Given the description of an element on the screen output the (x, y) to click on. 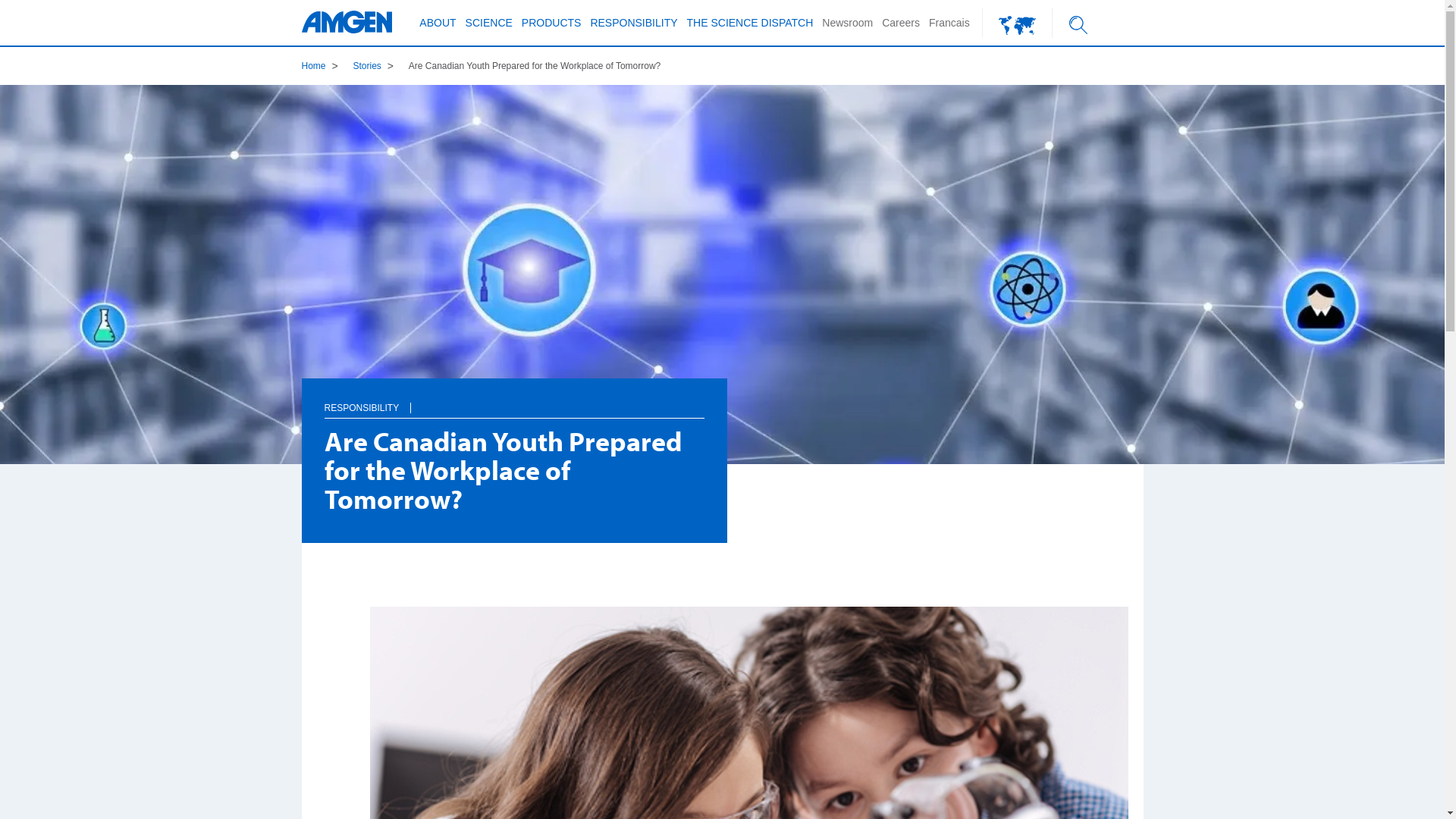
Are Canadian Youth Prepared for the Workplace of Tomorrow? Element type: text (534, 65)
FLItem-3-SLItem-16 Element type: text (437, 77)
FLItem-2 Element type: text (1017, 22)
RESPONSIBILITY Element type: text (361, 407)
FLItem-4-SLItem-24 Element type: text (449, 218)
FLItem-1-SLItem-5 Element type: text (437, 170)
FLItem-1-SLItem-3 Element type: text (437, 122)
FLItem-1-SLItem-8 Element type: text (686, 99)
FLItem-2-SLItem-9 Element type: text (449, 77)
FLItem-4-SLItem-28 Element type: text (469, 312)
FLItem-5-SLItem-34 Element type: text (437, 146)
FLItem-1-SLItem-4 Element type: text (437, 146)
FLItem-1-SLItem-7 Element type: text (686, 77)
RESPONSIBILITY Element type: text (633, 22)
FLItem-1-SLItem-2 Element type: text (437, 99)
SCIENCE Element type: text (489, 22)
FLItem-1-SLItem-1 Element type: text (437, 77)
FLItem-4-SLItem-27 Element type: text (469, 290)
FLItem-2-SLItem-10 Element type: text (449, 99)
FLItem-5-SLItem-36 Element type: text (437, 193)
Newsroom Element type: text (847, 22)
THE SCIENCE DISPATCH Element type: text (750, 22)
FLItem-3-SLItem-17 Element type: text (437, 99)
FLItem-2-SLItem-14 Element type: text (449, 193)
ABOUT Element type: text (437, 22)
FLItem-4-SLItem-21 Element type: text (469, 137)
FLItem-4-SLItem-25 Element type: text (469, 248)
FLItem-1-SLItem-6 Element type: text (437, 193)
PRODUCTS Element type: text (551, 22)
FLItem-2-SLItem-12 Element type: text (449, 146)
FLItem-4-SLItem-23 Element type: text (469, 187)
FLItem-2-SLItem-13 Element type: text (449, 170)
FLItem-3-SLItem-18 Element type: text (437, 122)
FLItem-4-SLItem-20 Element type: text (449, 107)
Stories Element type: text (366, 65)
FLItem-5-SLItem-35 Element type: text (437, 170)
Careers Element type: text (900, 22)
Francais Element type: text (949, 22)
FLItem-2-SLItem-11 Element type: text (449, 122)
Home Element type: text (313, 65)
FLItem-4-SLItem-22 Element type: text (469, 166)
FLItem-2-SLItem-15 Element type: text (724, 77)
FLItem-4-SLItem-26 Element type: text (469, 269)
FLItem-4-SLItem-30 Element type: text (724, 99)
